Given the description of an element on the screen output the (x, y) to click on. 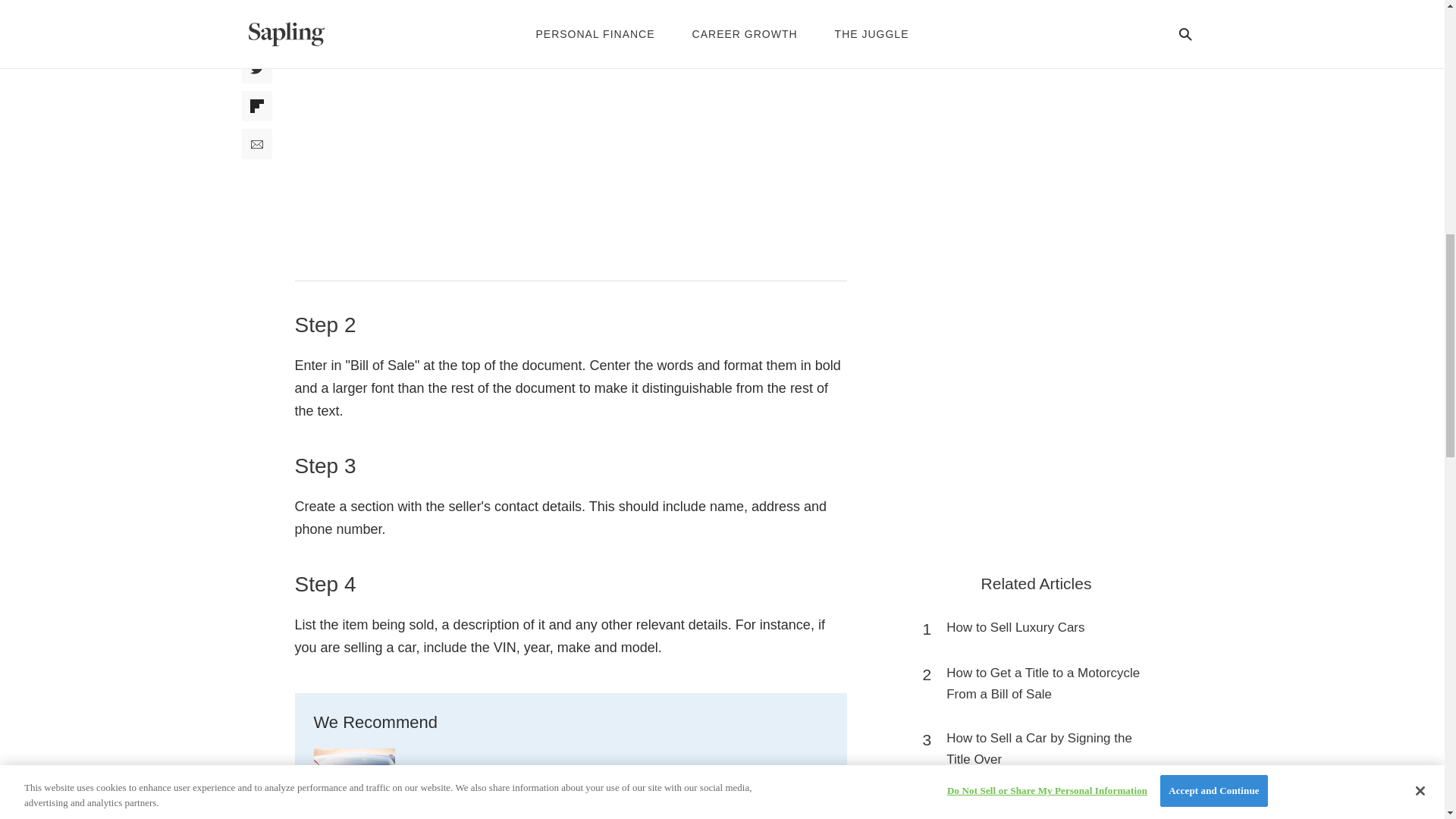
How to Sell a Car by Signing the Title Over (1043, 749)
3rd party ad content (1035, 815)
How to Get a Title to a Motorcycle From a Bill of Sale (1043, 683)
How to Sell Luxury Cars (1015, 627)
